Given the description of an element on the screen output the (x, y) to click on. 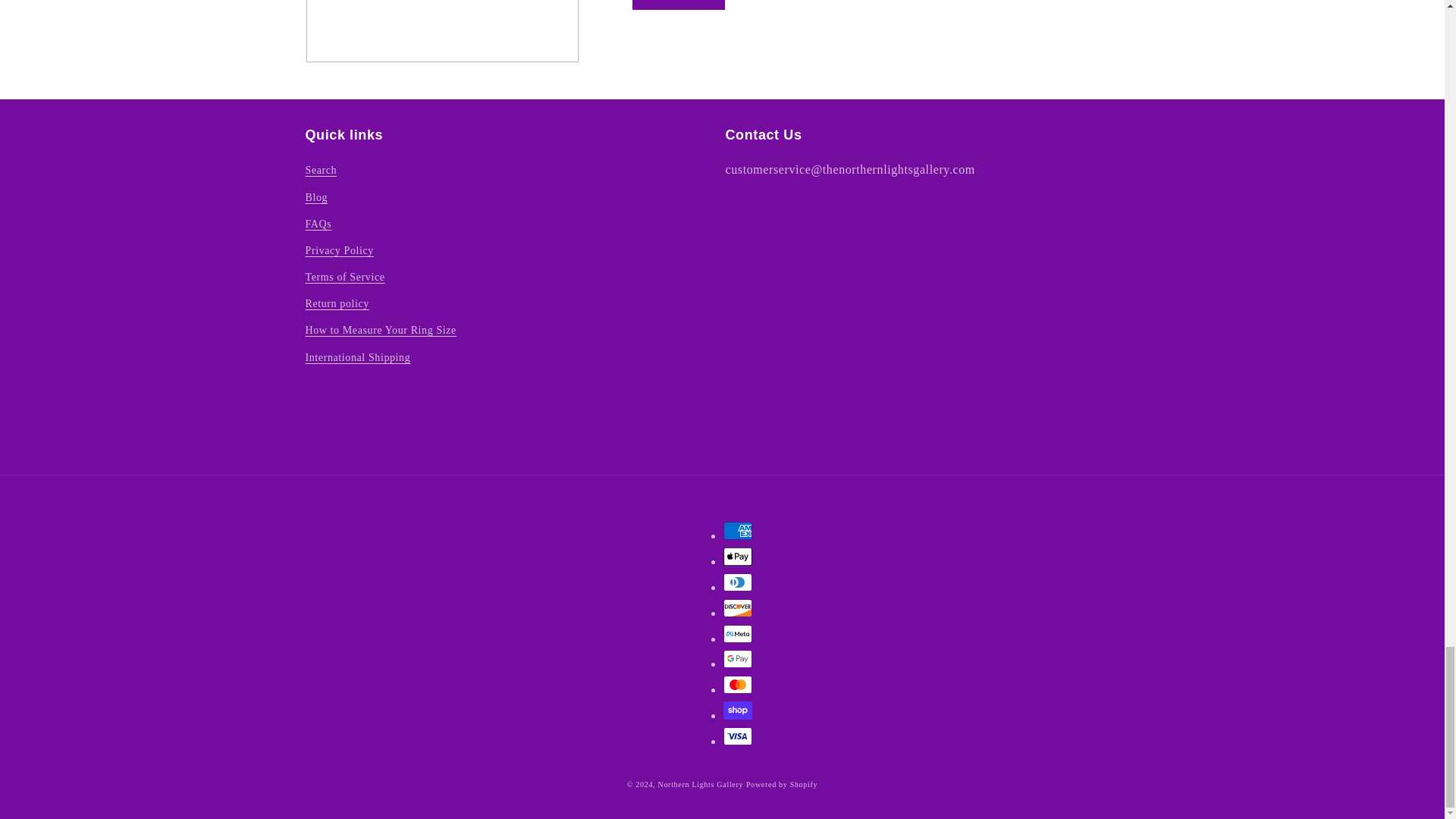
Apple Pay (737, 556)
Visa (737, 736)
Shop Pay (737, 710)
Google Pay (737, 659)
Discover (737, 607)
Mastercard (737, 684)
Meta Pay (737, 633)
American Express (737, 530)
Diners Club (737, 582)
